Given the description of an element on the screen output the (x, y) to click on. 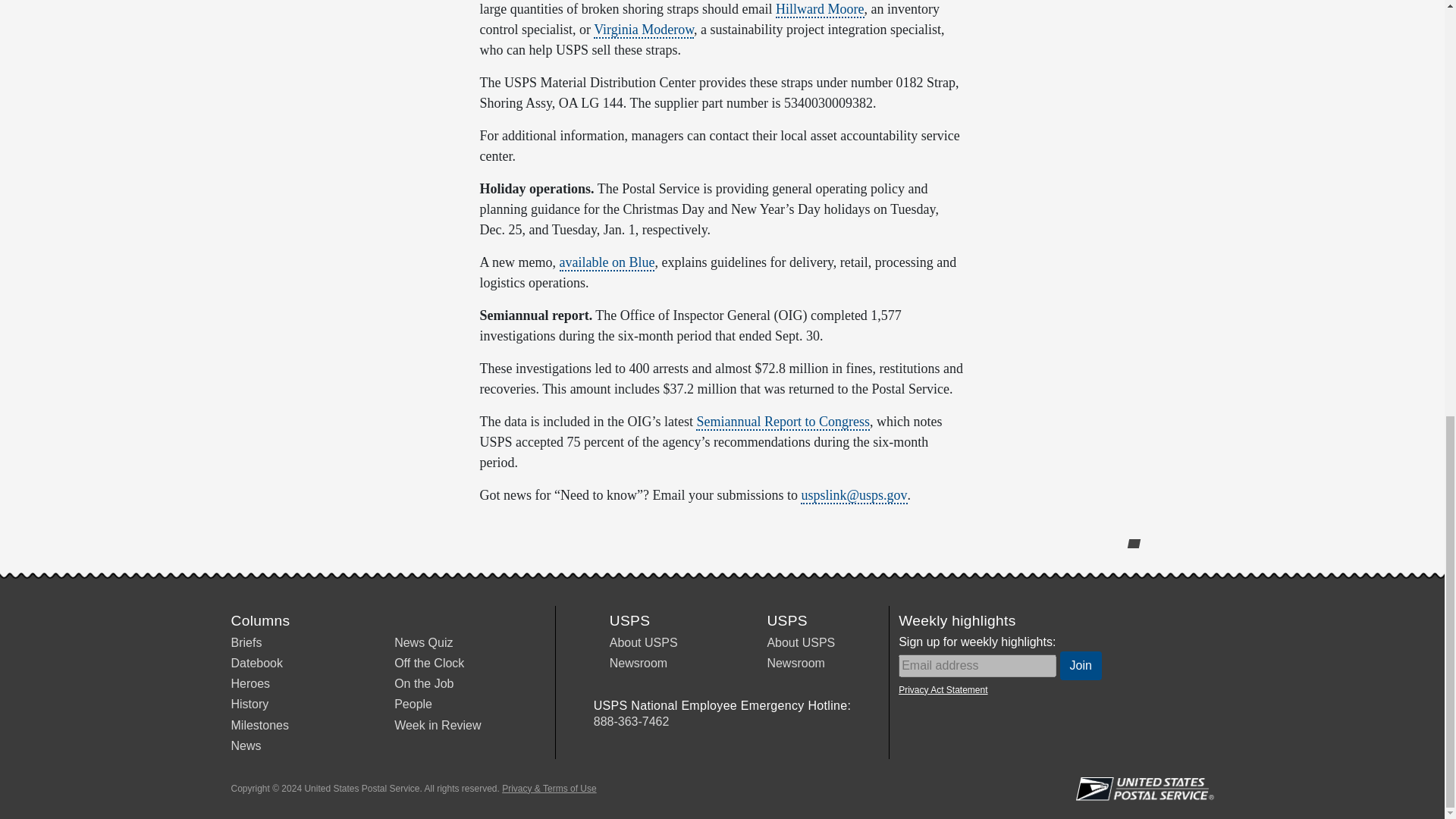
Semiannual Report to Congress (782, 422)
News Quiz (423, 642)
Week in Review (437, 725)
News (245, 745)
On the Job (423, 683)
Milestones (259, 725)
Datebook (256, 662)
About USPS (644, 642)
available on Blue (607, 262)
People (413, 703)
Heroes (249, 683)
Briefs (246, 642)
Off the Clock (429, 662)
Hillward Moore (819, 9)
Join (1080, 665)
